Given the description of an element on the screen output the (x, y) to click on. 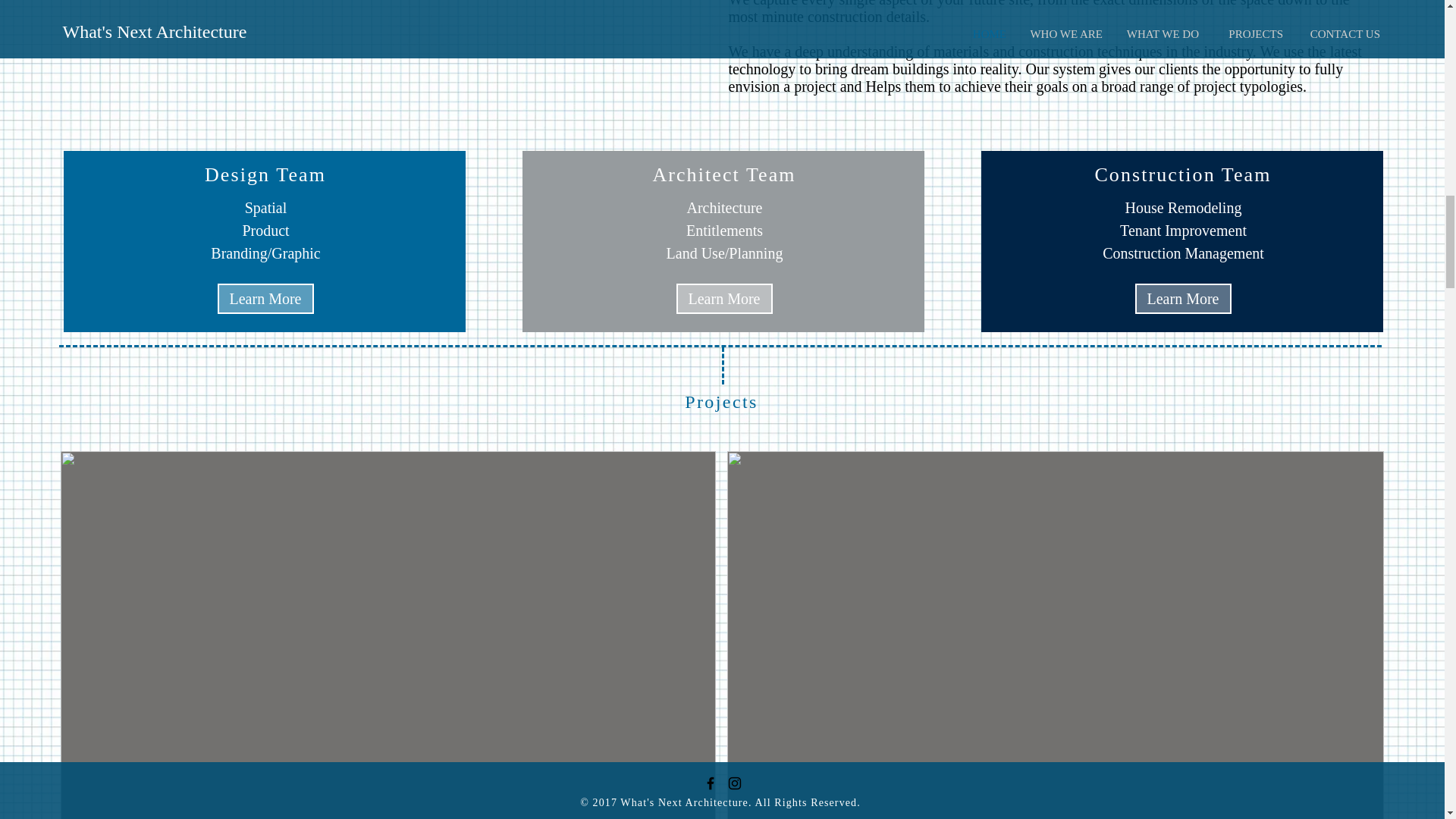
Learn More (1182, 298)
Learn More (725, 298)
Learn More (264, 298)
